Given the description of an element on the screen output the (x, y) to click on. 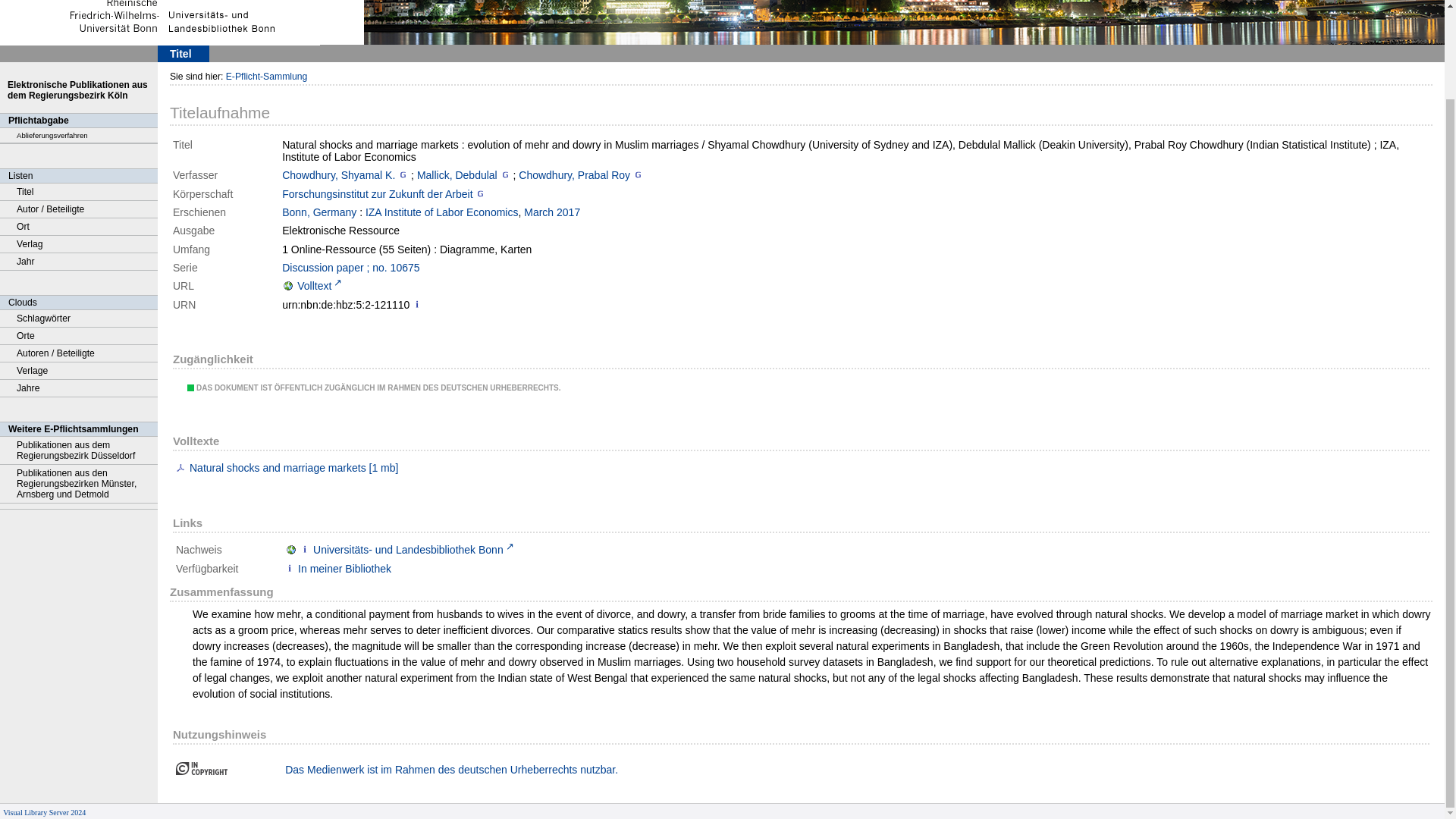
E-Pflicht-Sammlung (266, 76)
IZA Institute of Labor Economics (441, 212)
March 2017 (551, 212)
Chowdhury, Shyamal K. (338, 174)
Ort (78, 226)
Volltext (312, 285)
Orte (78, 335)
Forschungsinstitut zur Zukunft der Arbeit (376, 193)
Discussion paper ; no. 10675 (350, 267)
Mallick, Debdulal (456, 174)
Jahr (78, 262)
Jahre (78, 388)
Verlag (78, 244)
Bonn, Germany (319, 212)
Titel (78, 191)
